Given the description of an element on the screen output the (x, y) to click on. 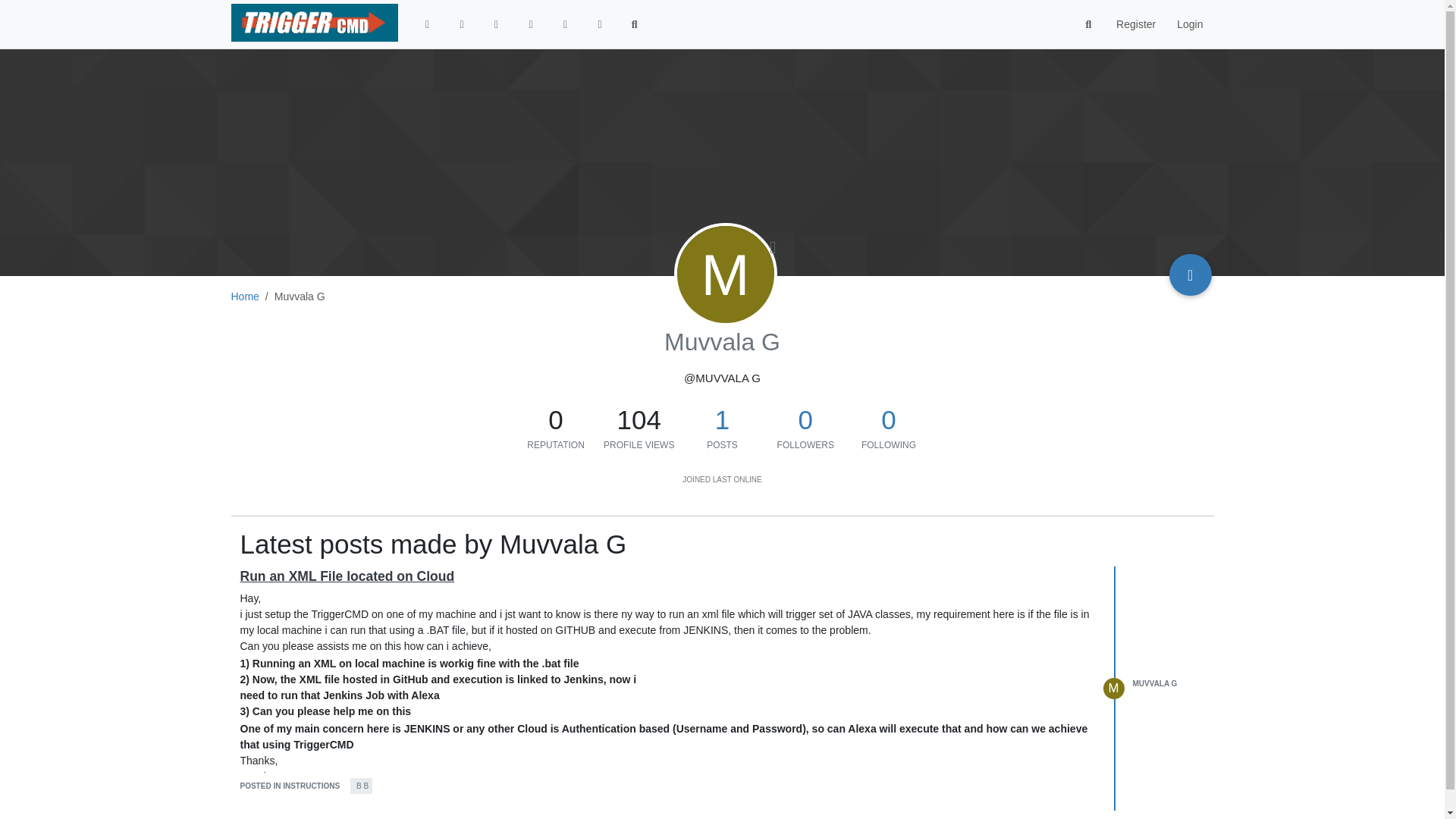
Popular (530, 24)
Register (1135, 24)
B B (361, 784)
MUVVALA G (1154, 683)
Search (634, 24)
Recent (461, 24)
Search (1088, 24)
Run an XML File located on Cloud (347, 575)
Home (244, 296)
POSTED IN INSTRUCTIONS (289, 786)
Tags (496, 24)
Groups (599, 24)
Users (565, 24)
Login (1189, 24)
Categories (427, 24)
